Given the description of an element on the screen output the (x, y) to click on. 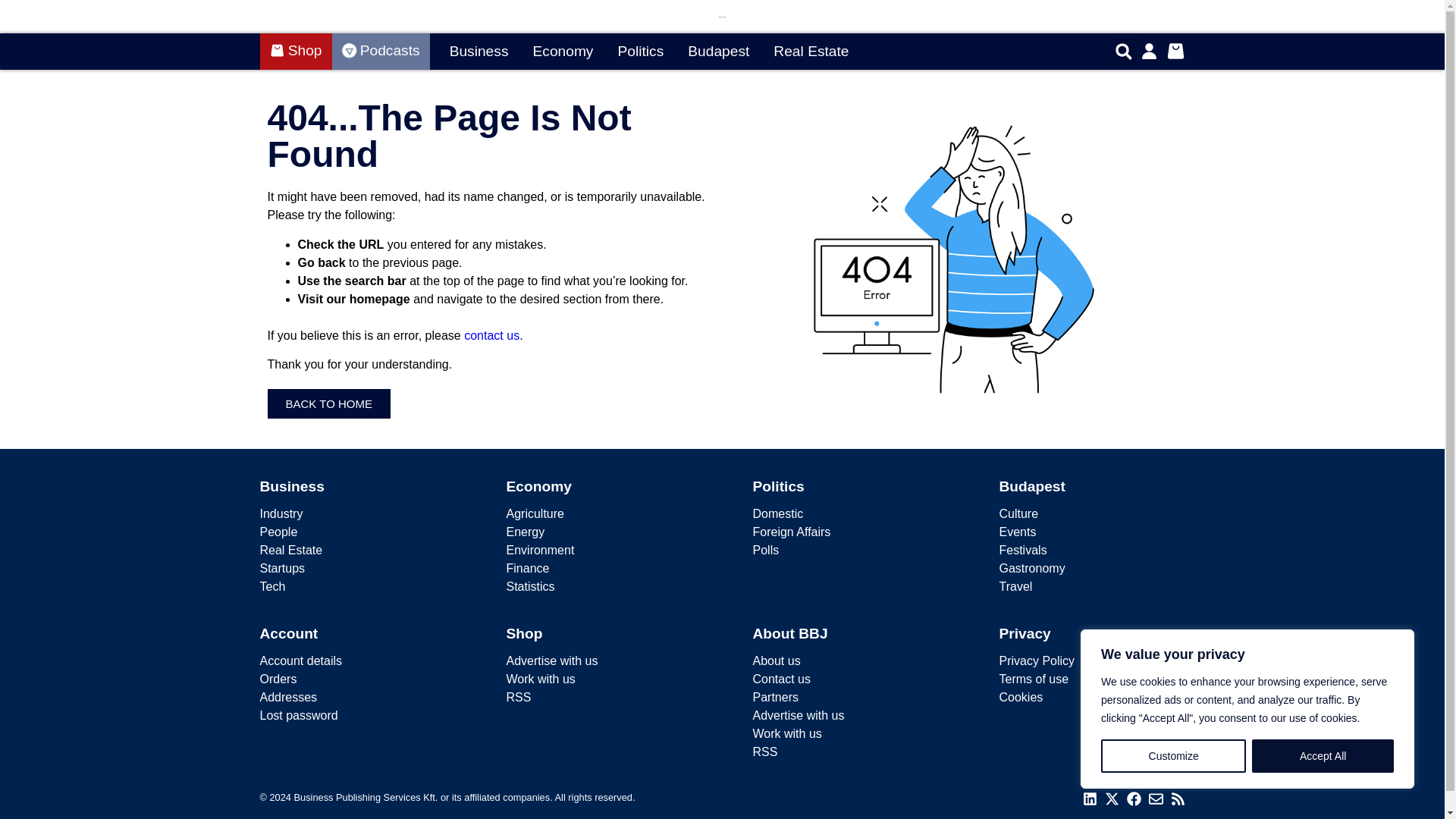
Budapest (718, 51)
Tech (352, 587)
Shop (295, 51)
Podcasts (380, 51)
Business (291, 486)
Environment (599, 550)
Agriculture (599, 514)
BACK TO HOME (328, 403)
Startups (352, 568)
Industry (352, 514)
Real Estate (810, 51)
People (352, 532)
Economy (562, 51)
Politics (640, 51)
Business (478, 51)
